Given the description of an element on the screen output the (x, y) to click on. 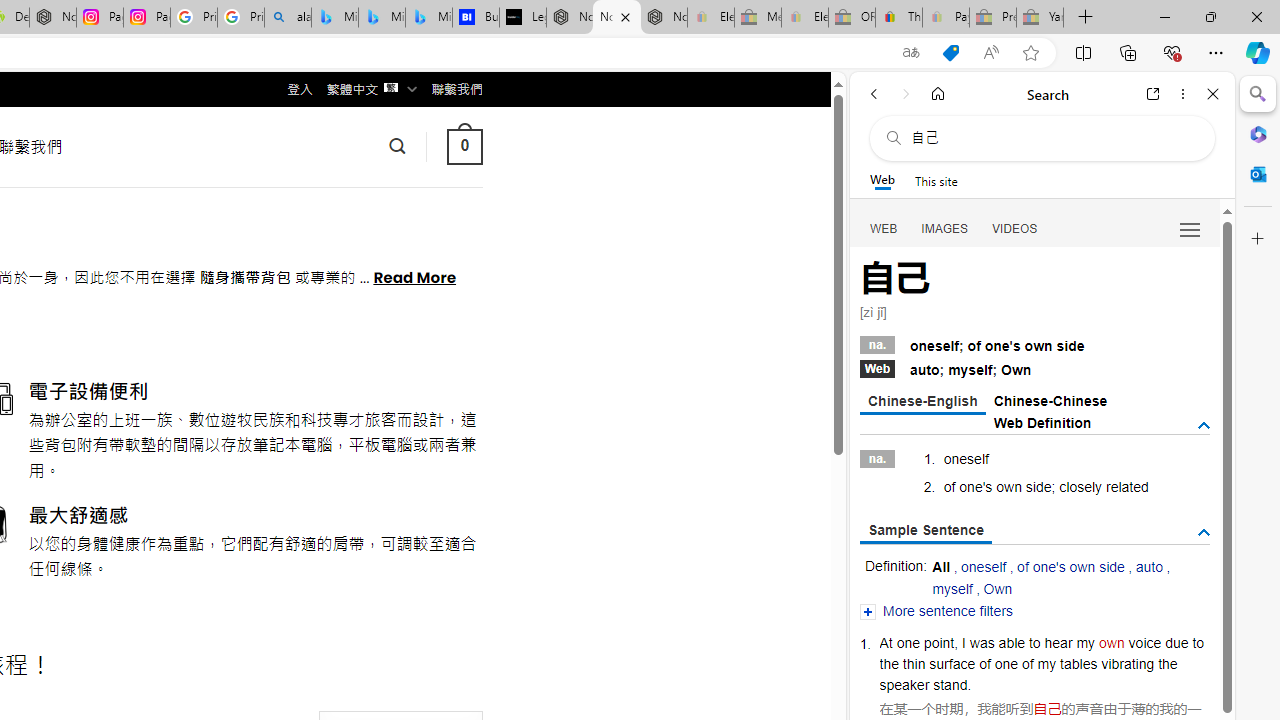
due (1176, 642)
, (955, 642)
tables (1078, 663)
Web Definition (1042, 422)
myself (951, 588)
speaker (904, 684)
AutomationID: tgdef_sen (1203, 533)
